Given the description of an element on the screen output the (x, y) to click on. 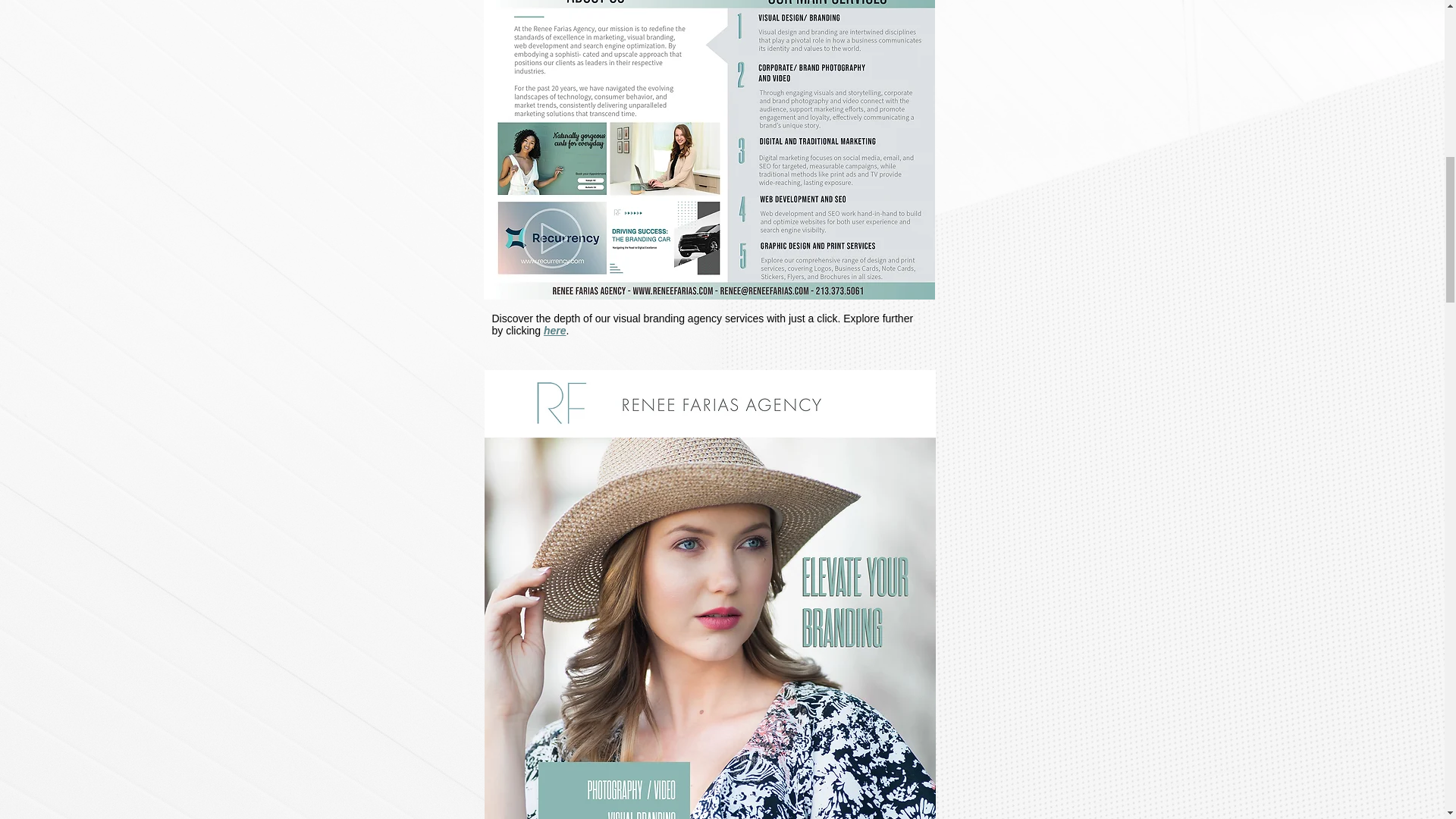
here (554, 330)
